Given the description of an element on the screen output the (x, y) to click on. 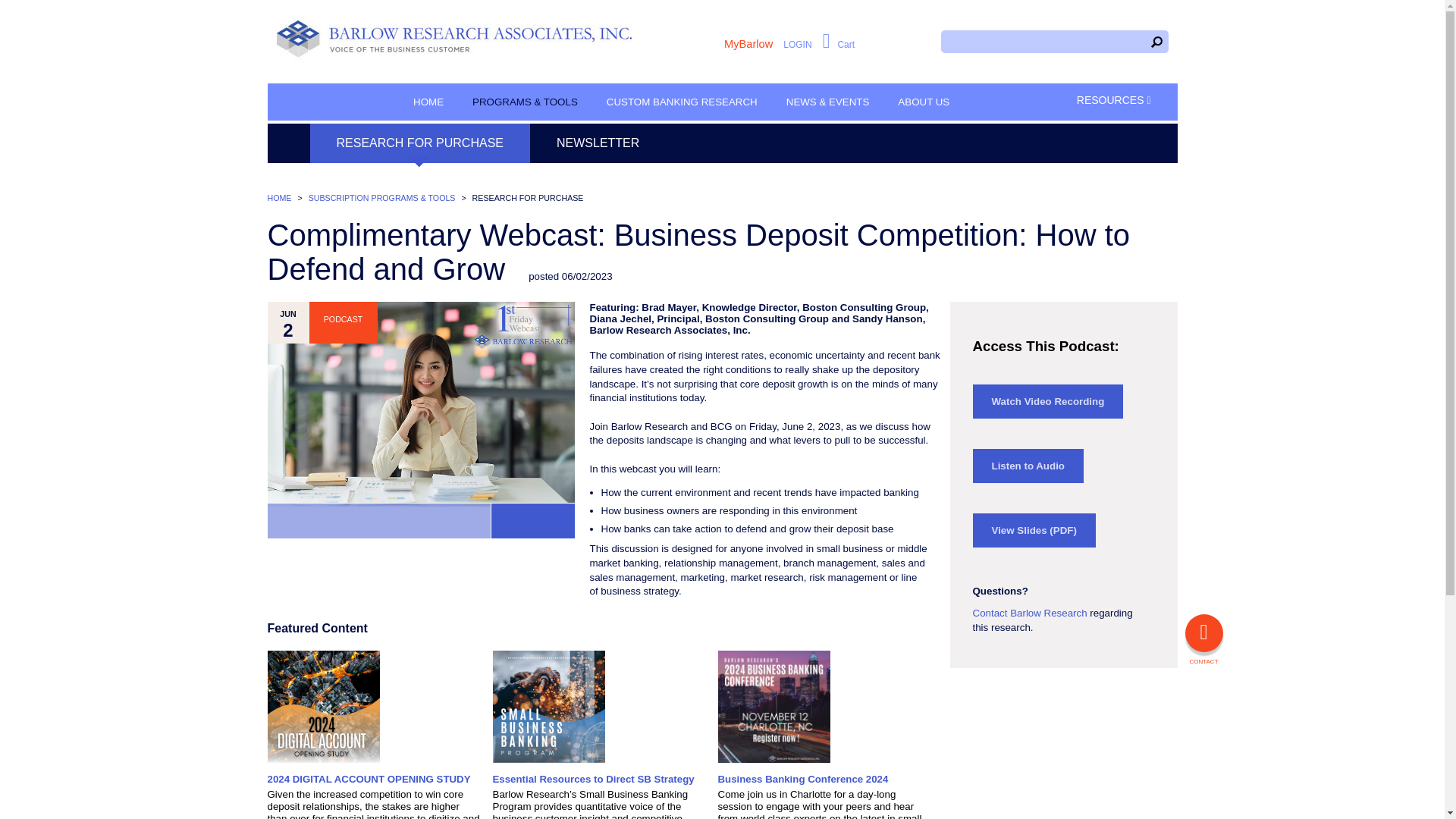
Cart (838, 44)
NEWSLETTER (597, 142)
HOME (278, 197)
MyBarlow (748, 43)
Search (1044, 41)
HOME (428, 101)
Search (1157, 41)
LOGIN (796, 44)
ABOUT US (923, 101)
CUSTOM BANKING RESEARCH (682, 101)
Barlow Research (455, 38)
RESEARCH FOR PURCHASE (418, 142)
